Given the description of an element on the screen output the (x, y) to click on. 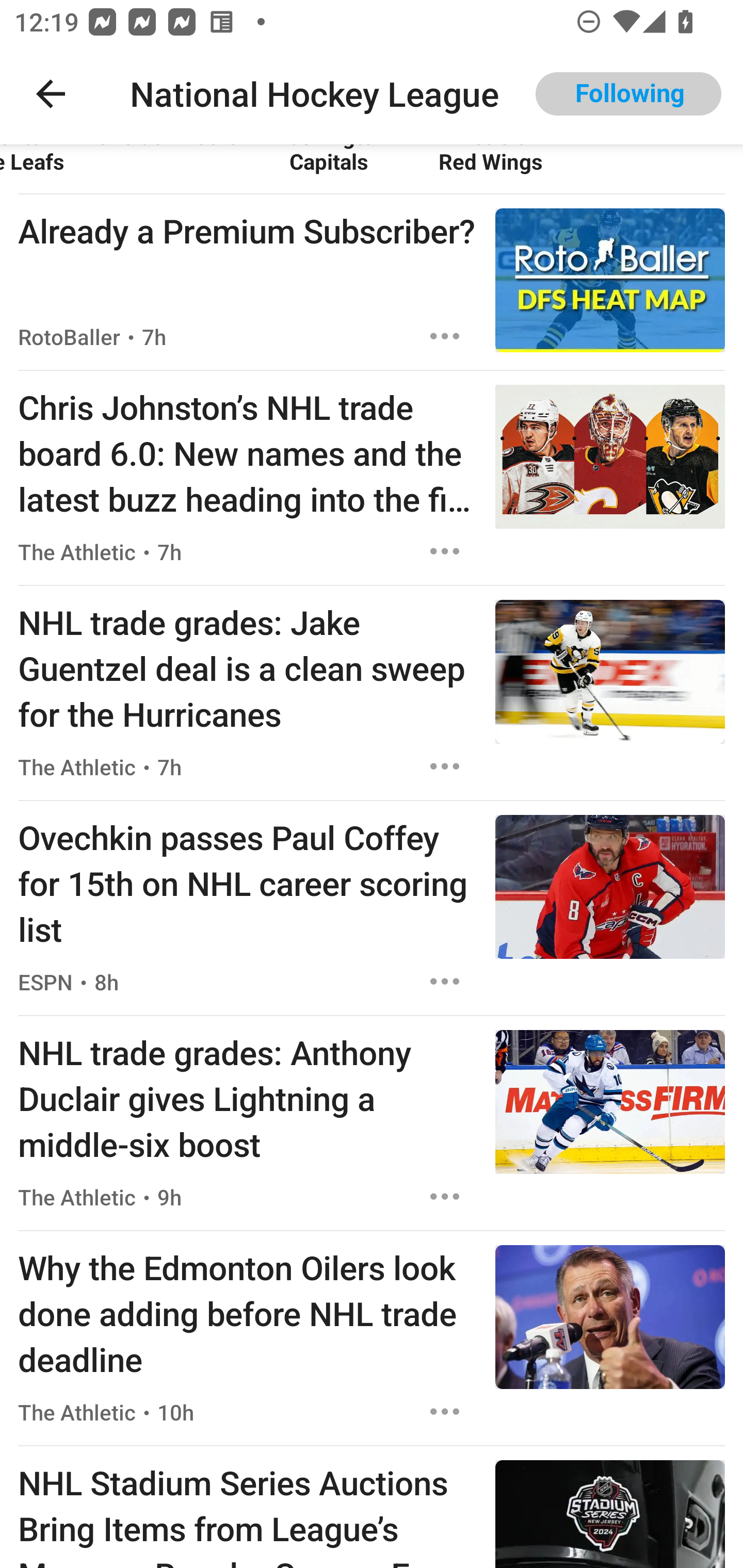
Navigate up (50, 93)
Following (628, 94)
Options (444, 336)
Options (444, 550)
Options (444, 766)
Options (444, 981)
Options (444, 1196)
Options (444, 1411)
